Given the description of an element on the screen output the (x, y) to click on. 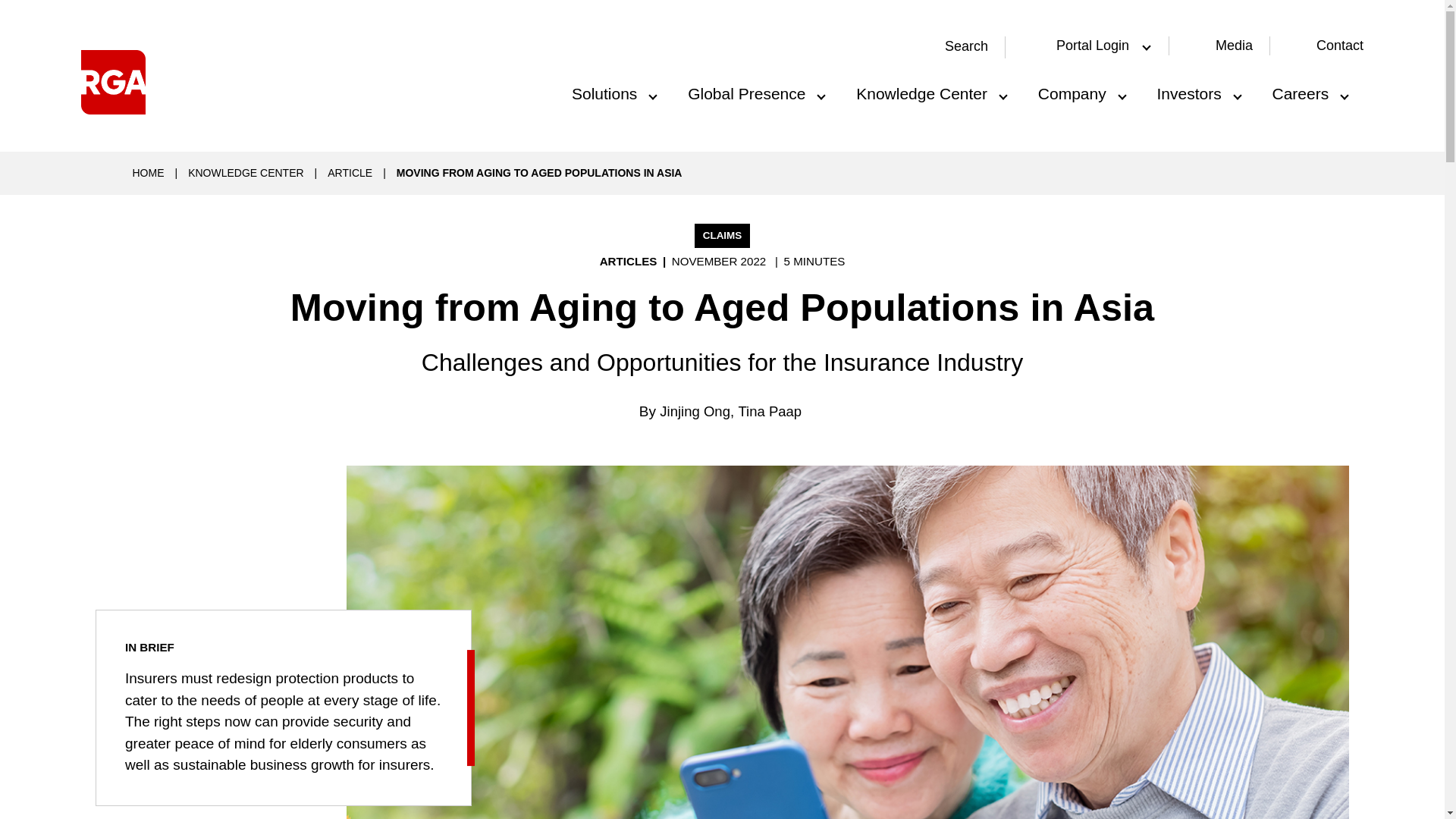
Knowledge Center (931, 89)
Search (957, 47)
Company (1081, 89)
Media (1233, 45)
Portal Login (1088, 46)
Contact (1339, 45)
Global Presence (755, 89)
Solutions (613, 89)
